Given the description of an element on the screen output the (x, y) to click on. 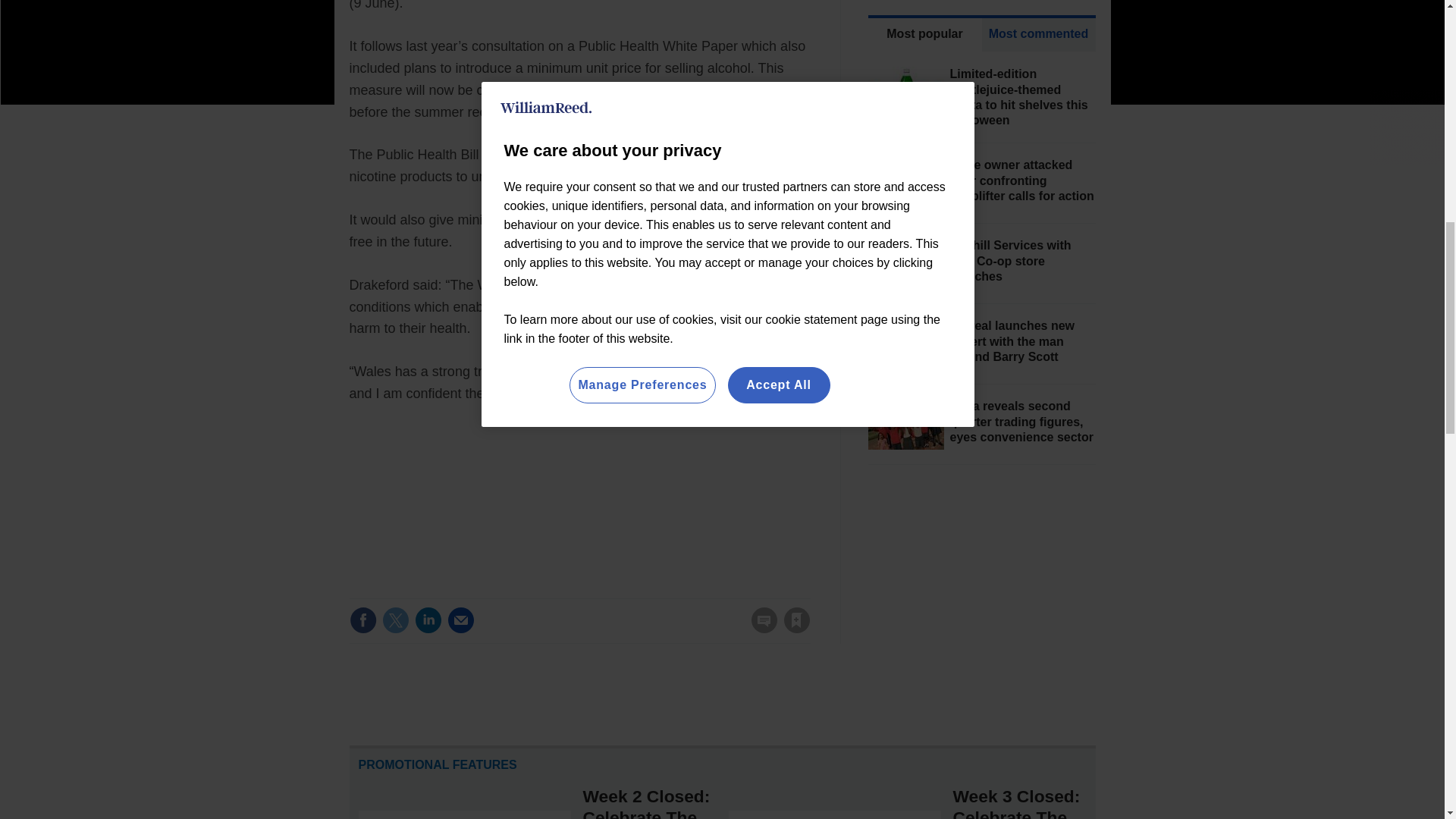
No comments (759, 629)
Share this on Twitter (395, 619)
Email this article (460, 619)
Share this on Linked in (427, 619)
Share this on Facebook (362, 619)
3rd party ad content (980, 596)
